Given the description of an element on the screen output the (x, y) to click on. 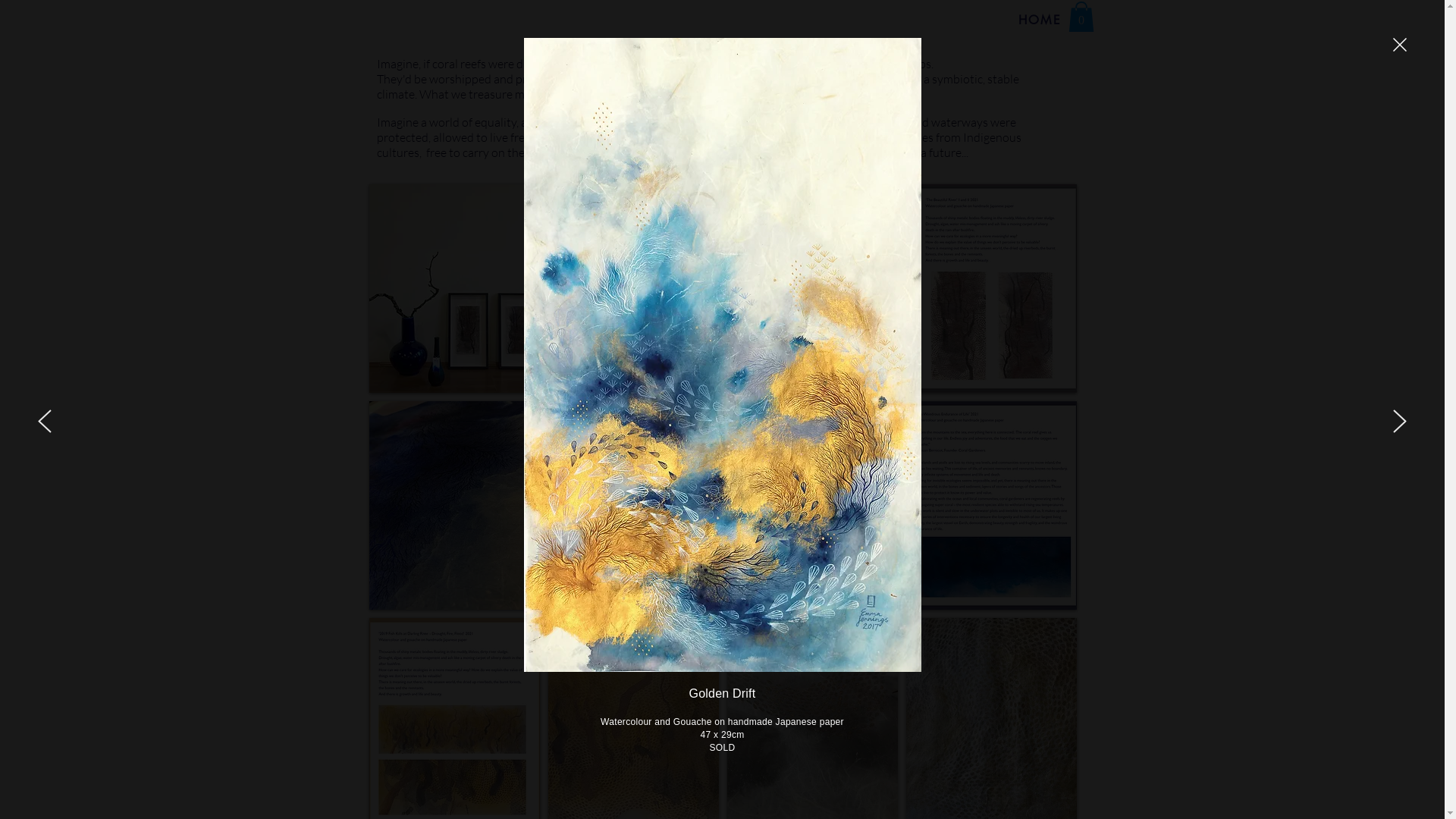
0 Element type: text (1080, 16)
HOME Element type: text (1039, 19)
